Given the description of an element on the screen output the (x, y) to click on. 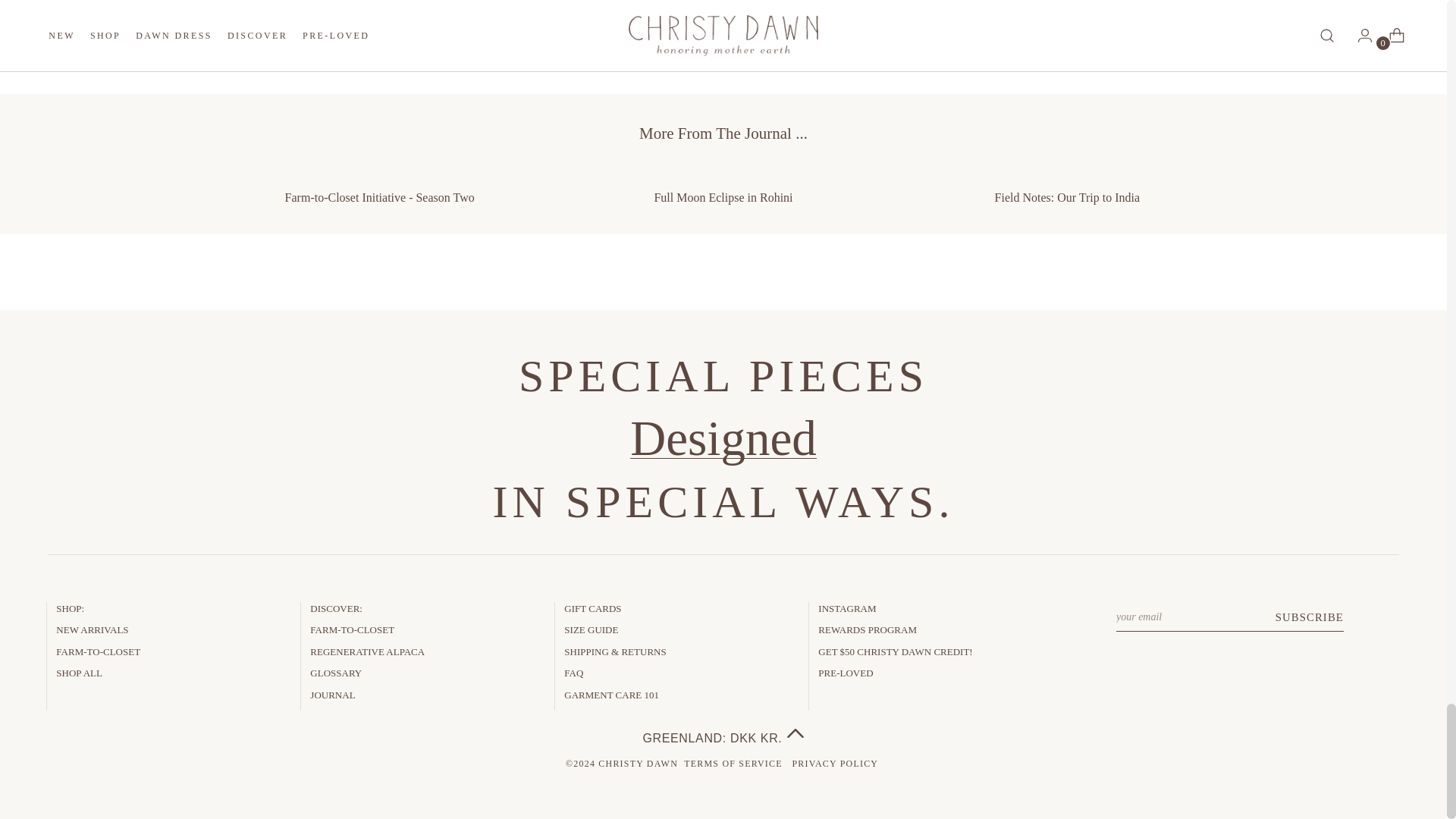
Field Notes: Our Trip to India (1067, 185)
Farm-to-Closet Initiative - Season Two (378, 185)
Full Moon Eclipse in Rohini (722, 185)
